Given the description of an element on the screen output the (x, y) to click on. 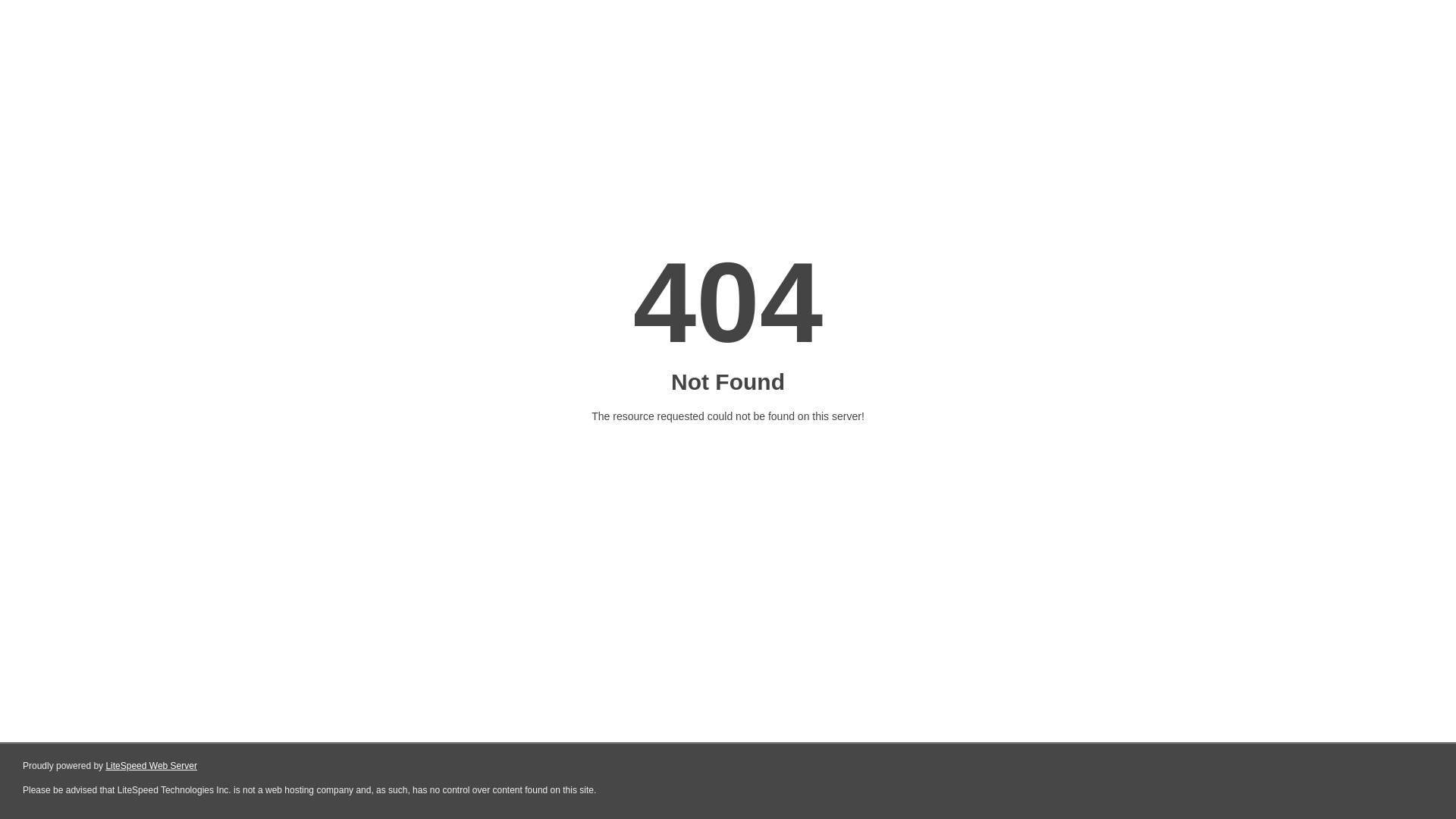
LiteSpeed Web Server Element type: text (151, 765)
